Given the description of an element on the screen output the (x, y) to click on. 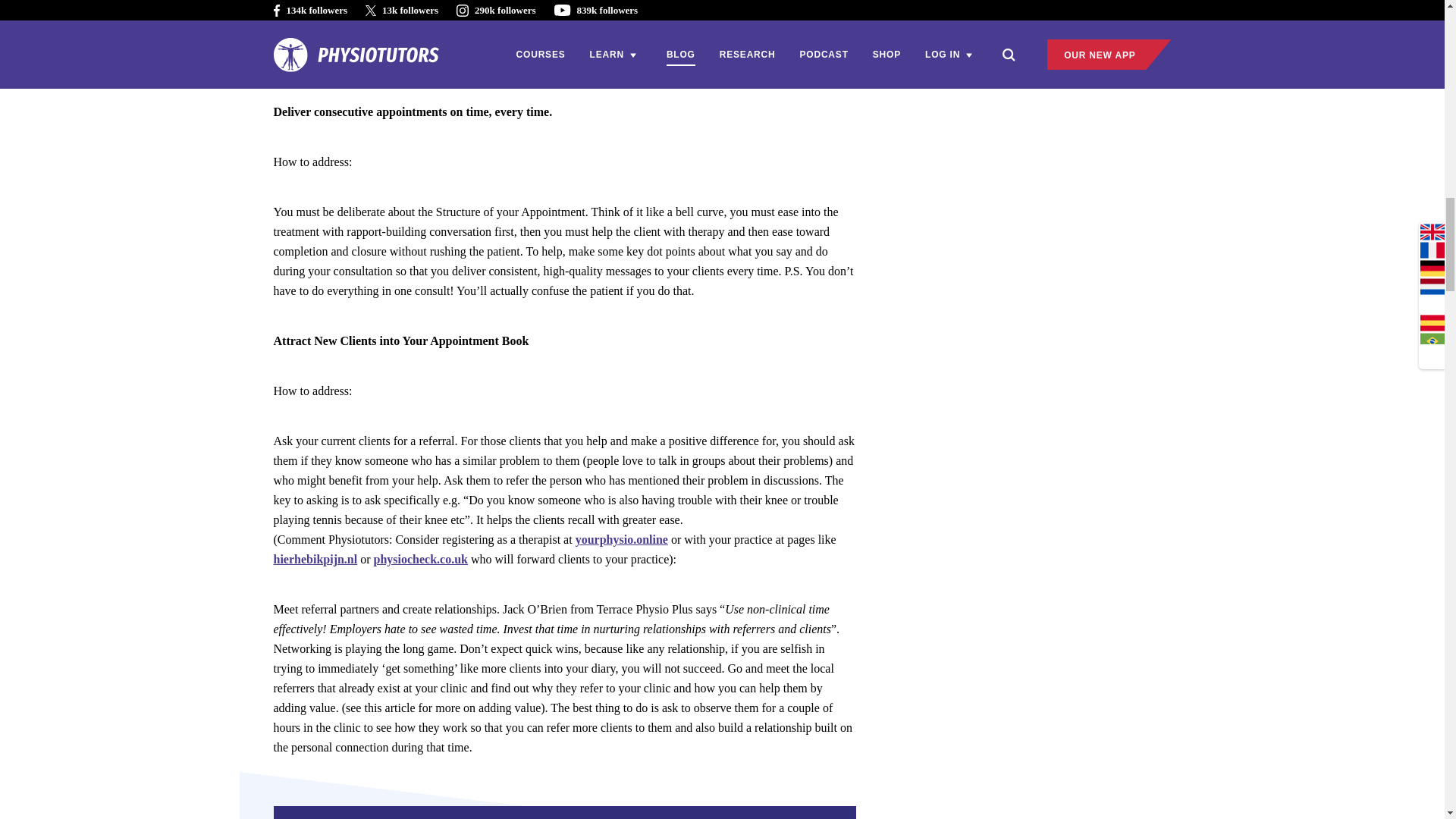
yourphysio.online (621, 539)
hierhebikpijn.nl (314, 558)
physiocheck.co.uk (420, 558)
